Given the description of an element on the screen output the (x, y) to click on. 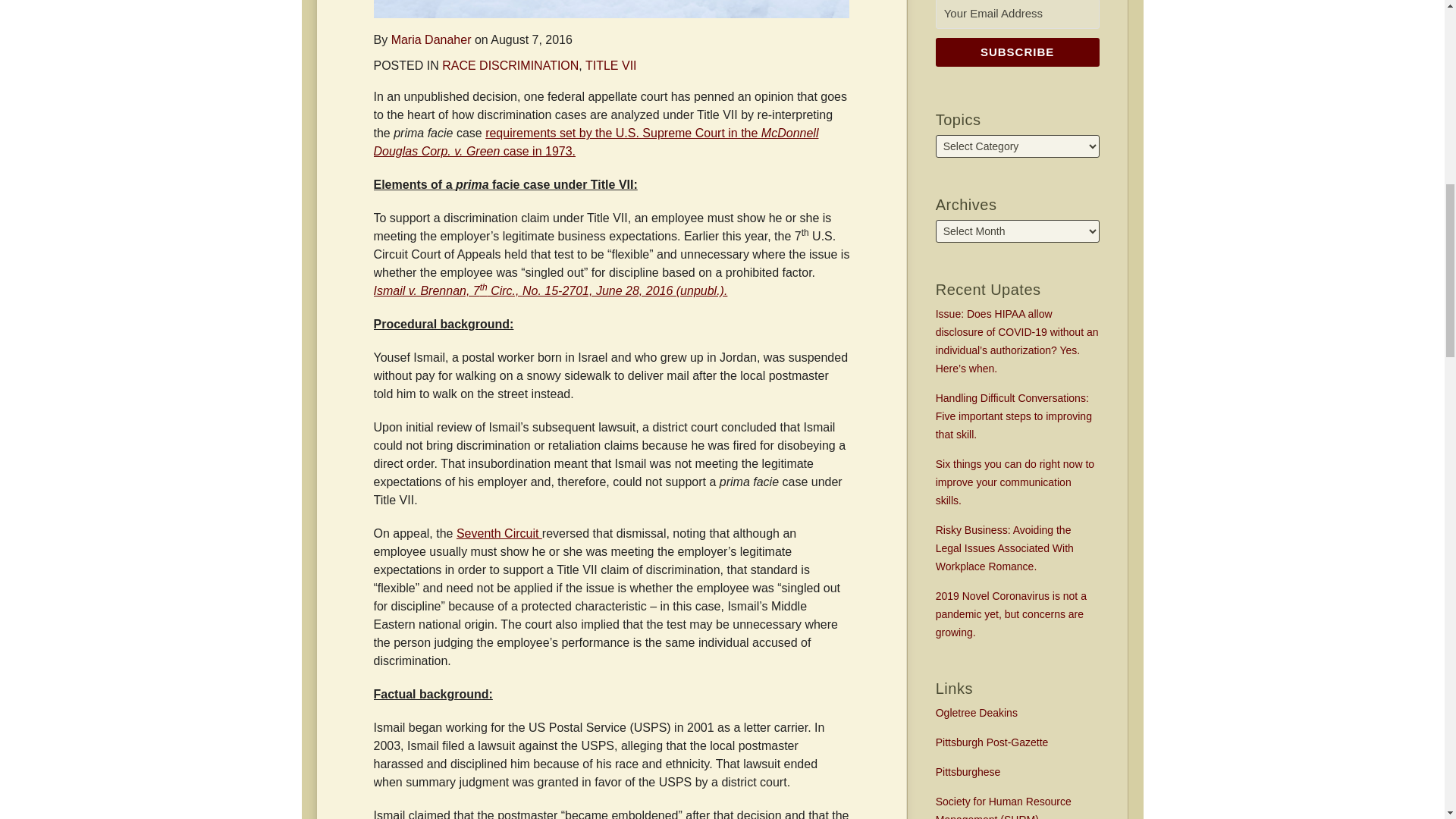
Maria Danaher (431, 39)
TITLE VII (611, 65)
Subscribe (1017, 51)
RACE DISCRIMINATION (510, 65)
Seventh Circuit (499, 533)
